Given the description of an element on the screen output the (x, y) to click on. 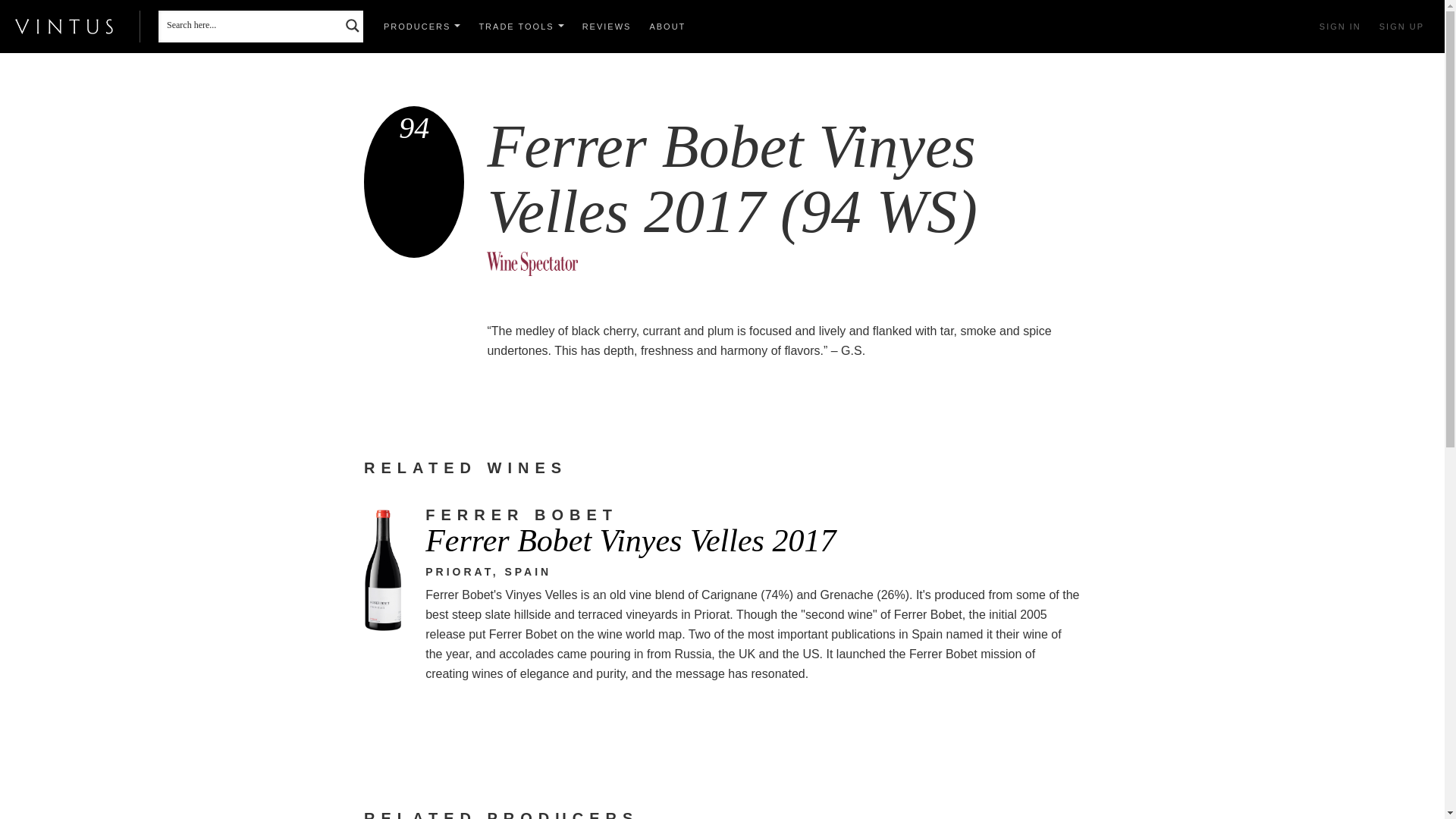
REVIEWS (606, 26)
Ferrer Bobet Vinyes Velles 2017 (752, 540)
SIGN UP (1401, 26)
PRODUCERS (421, 26)
Login (1340, 26)
TRADE TOOLS (520, 26)
ABOUT (667, 26)
SIGN IN (1340, 26)
